Given the description of an element on the screen output the (x, y) to click on. 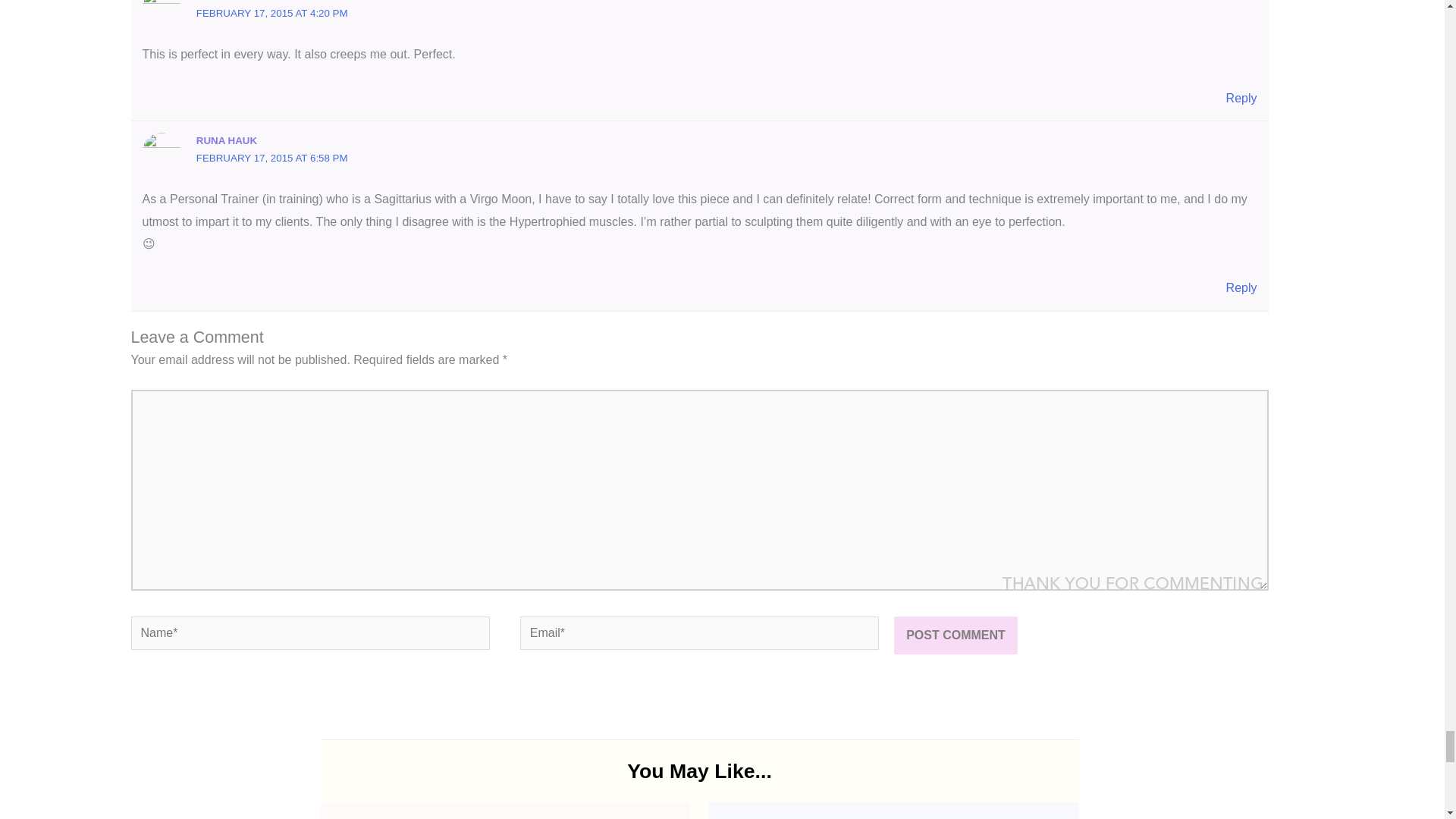
Post Comment (955, 634)
